Given the description of an element on the screen output the (x, y) to click on. 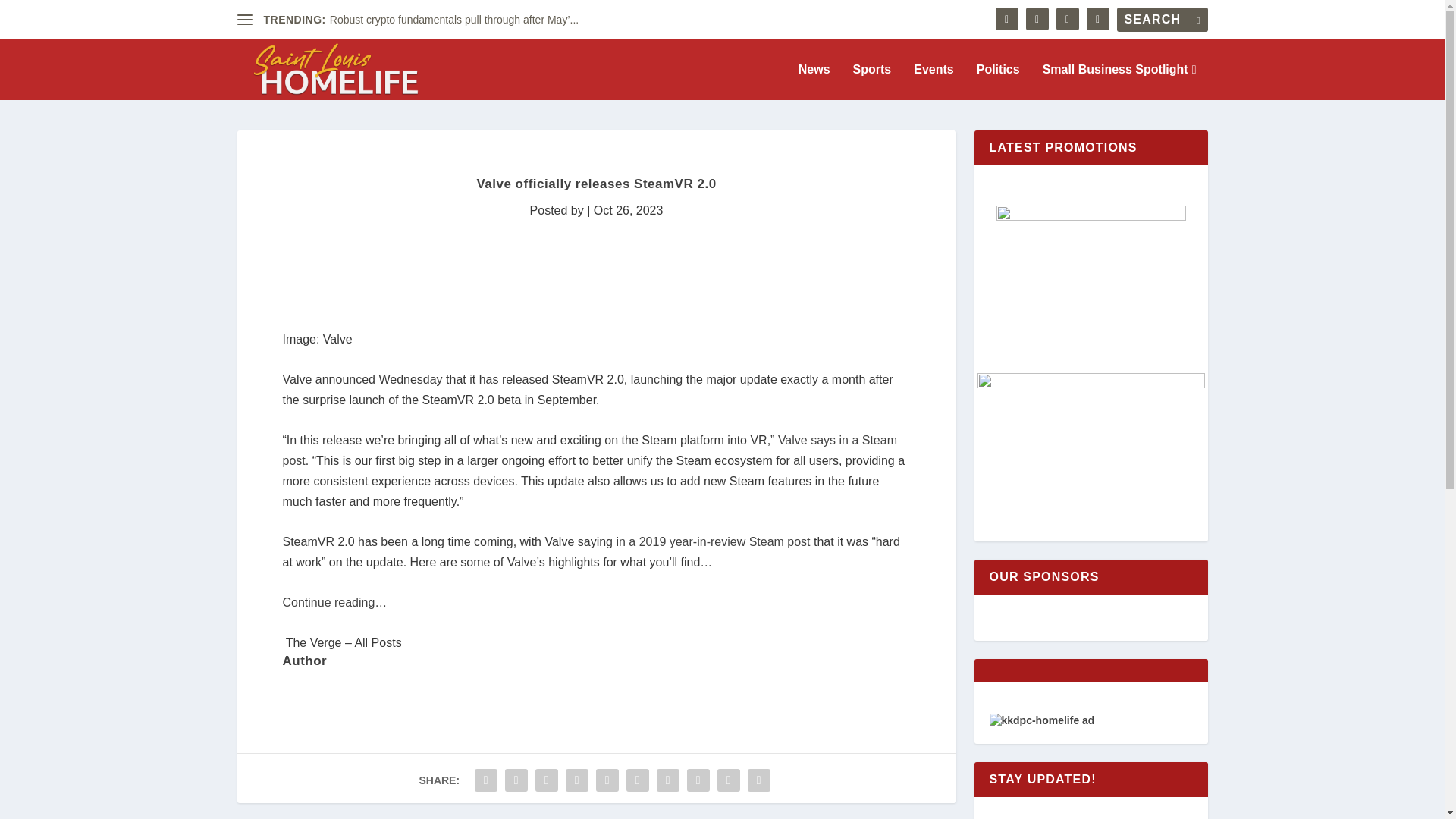
Share "Valve officially releases SteamVR 2.0" via Print (759, 779)
Share "Valve officially releases SteamVR 2.0" via Email (728, 779)
Small Business Spotlight (1119, 81)
Search for: (1161, 19)
Share "Valve officially releases SteamVR 2.0" via Tumblr (577, 779)
Share "Valve officially releases SteamVR 2.0" via Buffer (667, 779)
Share "Valve officially releases SteamVR 2.0" via Twitter (515, 779)
Politics (998, 81)
Sports (872, 81)
